Given the description of an element on the screen output the (x, y) to click on. 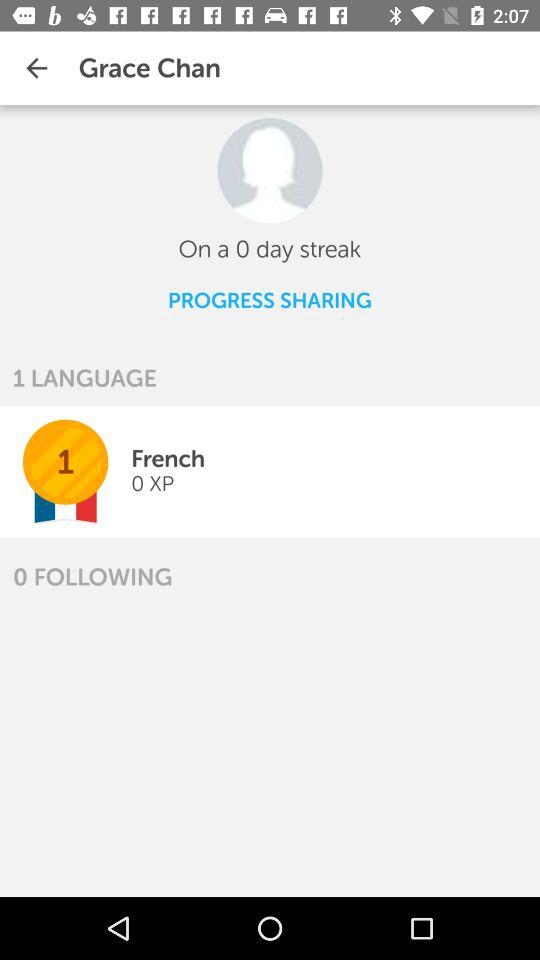
turn off the item above 1 icon (84, 378)
